Given the description of an element on the screen output the (x, y) to click on. 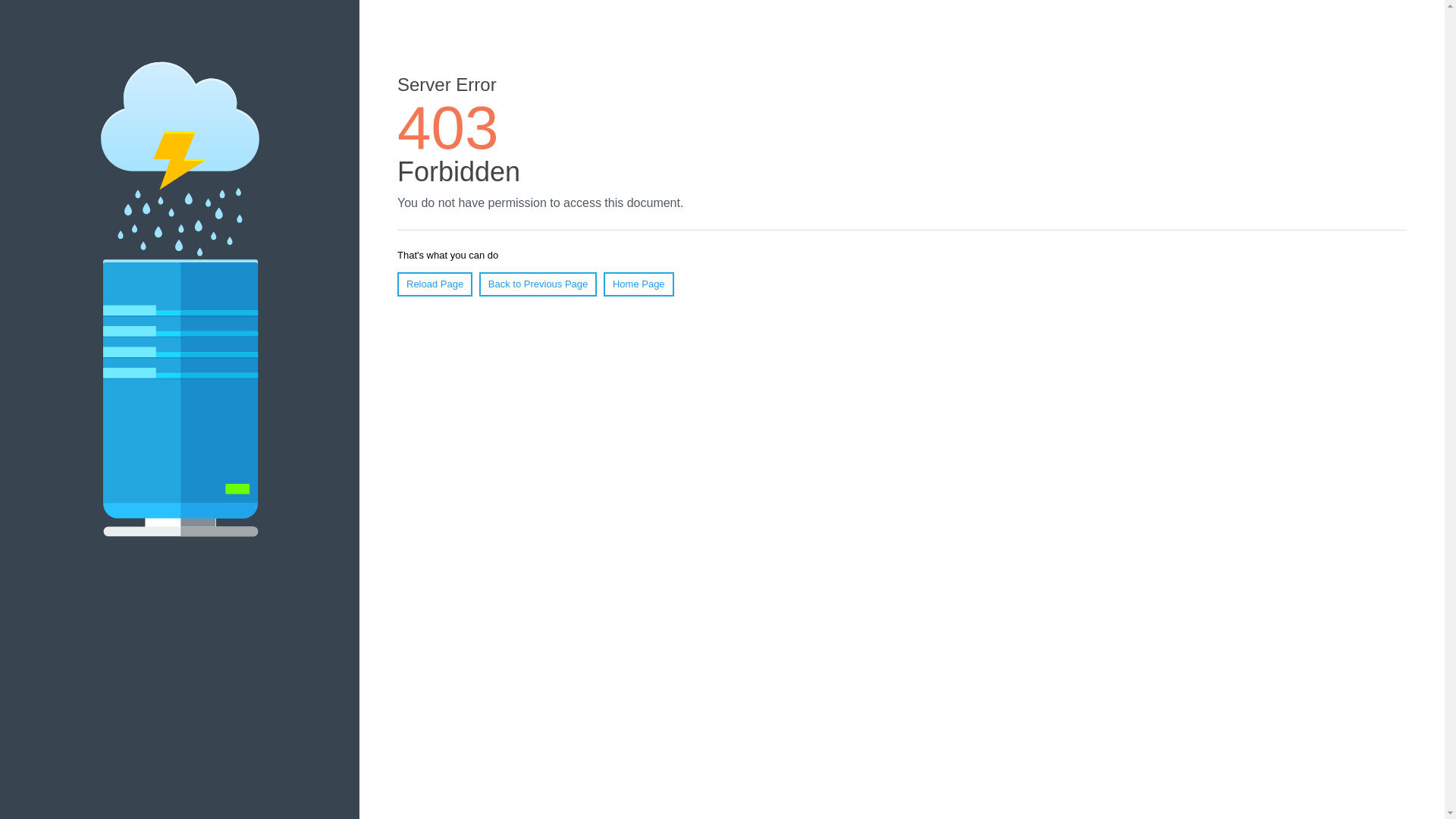
Reload Page (434, 283)
Back to Previous Page (537, 283)
Home Page (639, 283)
